Given the description of an element on the screen output the (x, y) to click on. 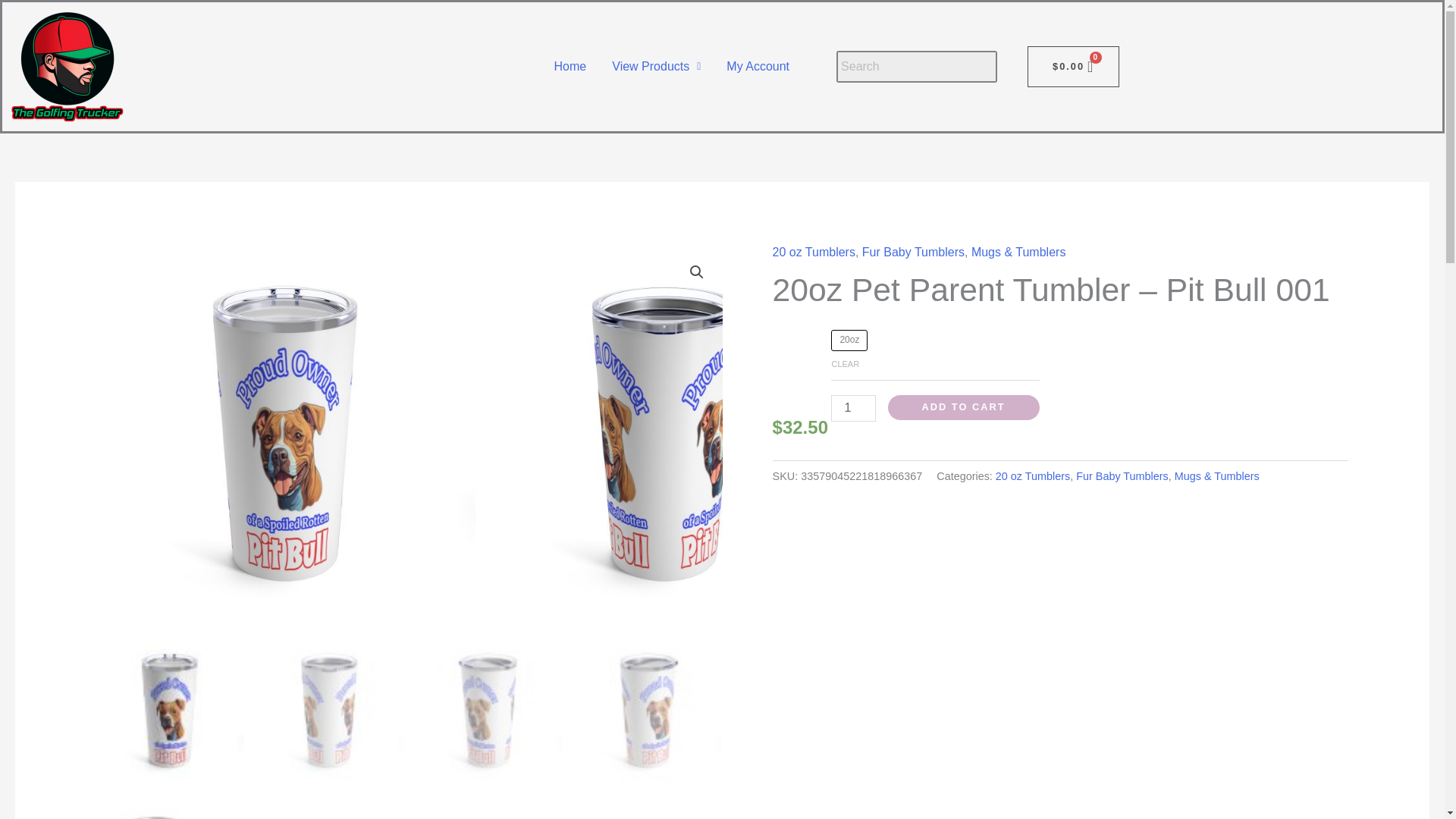
Home (570, 66)
My Account (757, 66)
1 (853, 407)
Search (916, 66)
View Products (655, 66)
